Given the description of an element on the screen output the (x, y) to click on. 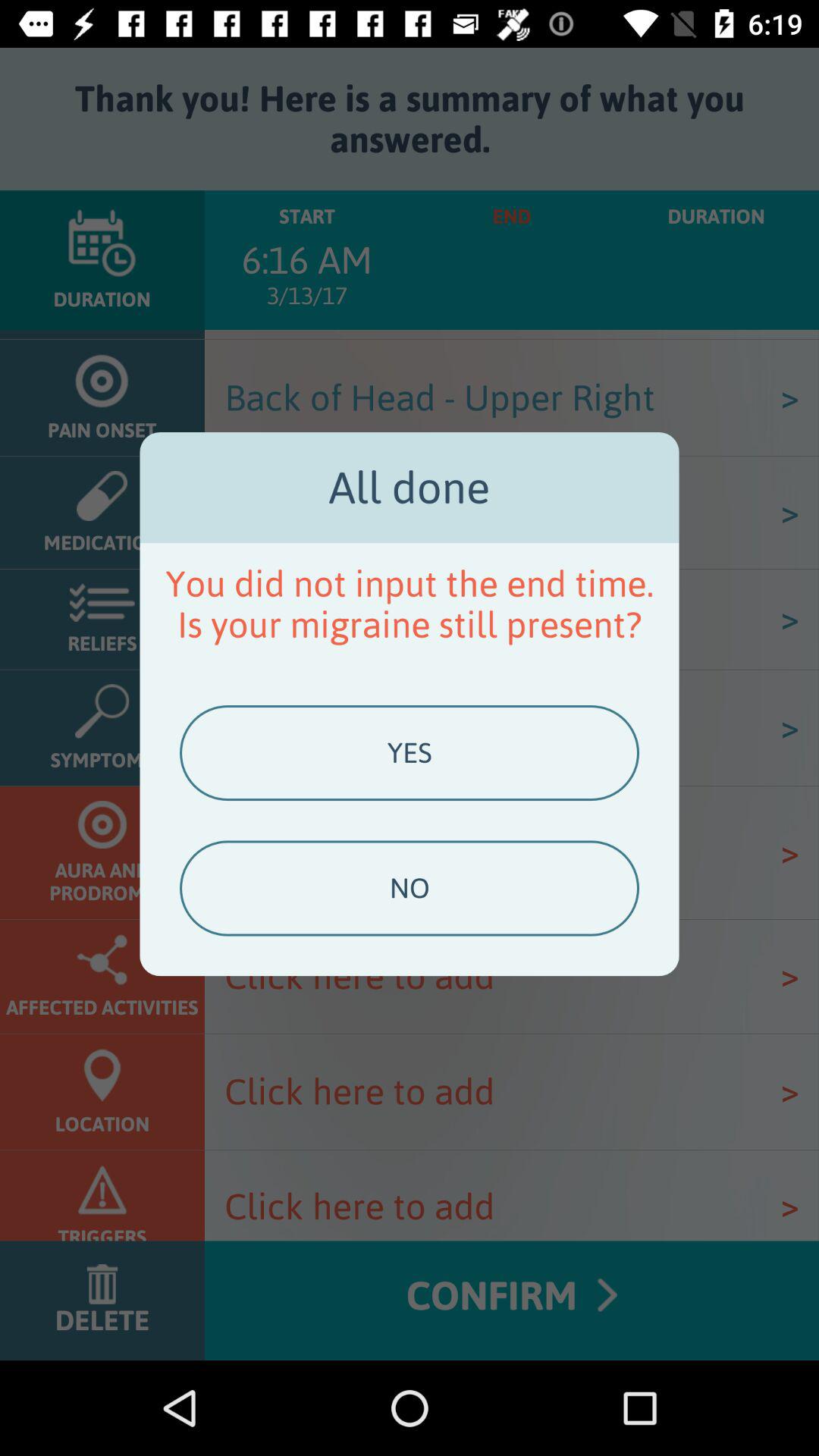
press item above the yes (409, 604)
